Given the description of an element on the screen output the (x, y) to click on. 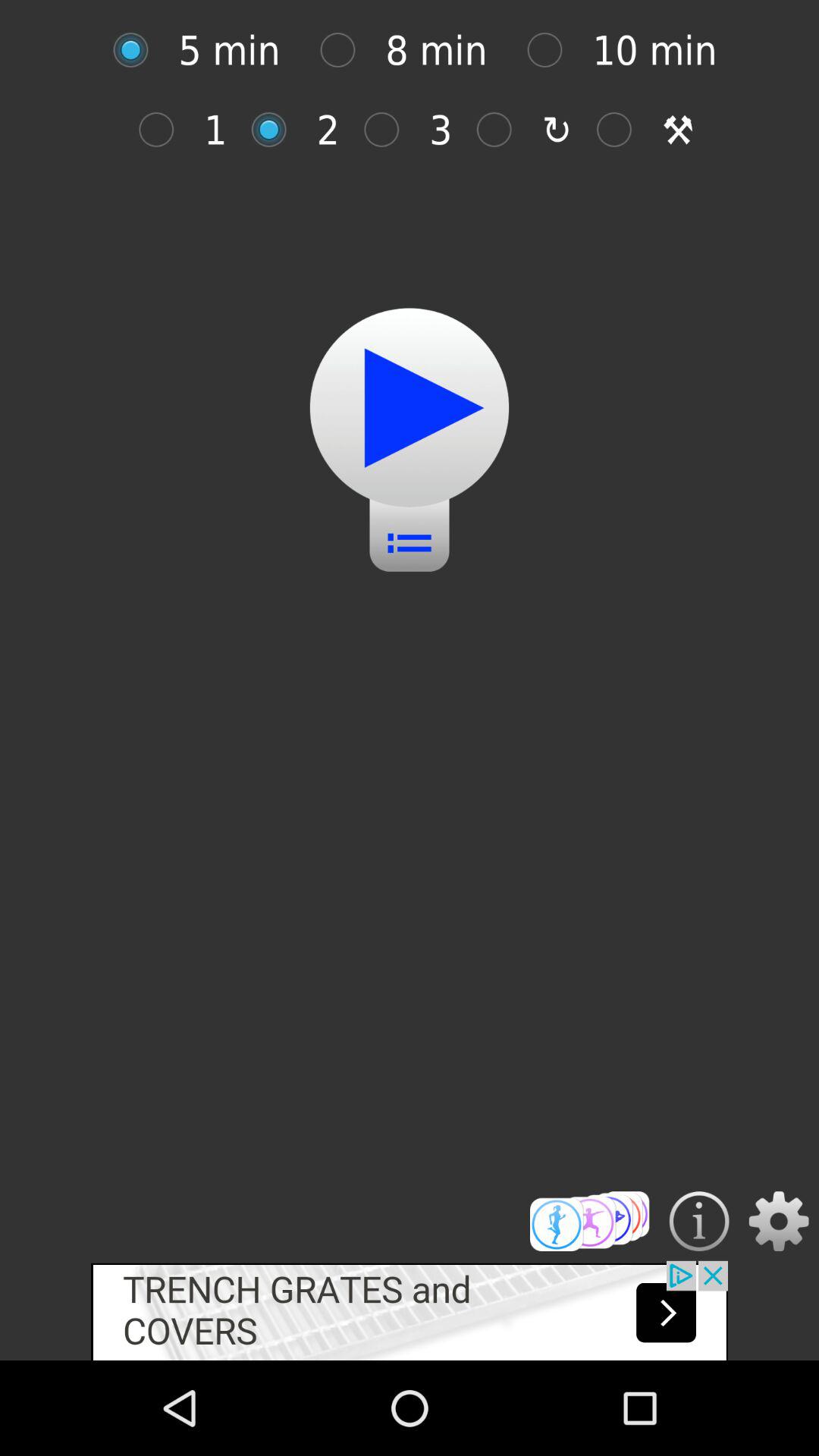
displays information (699, 1221)
